Given the description of an element on the screen output the (x, y) to click on. 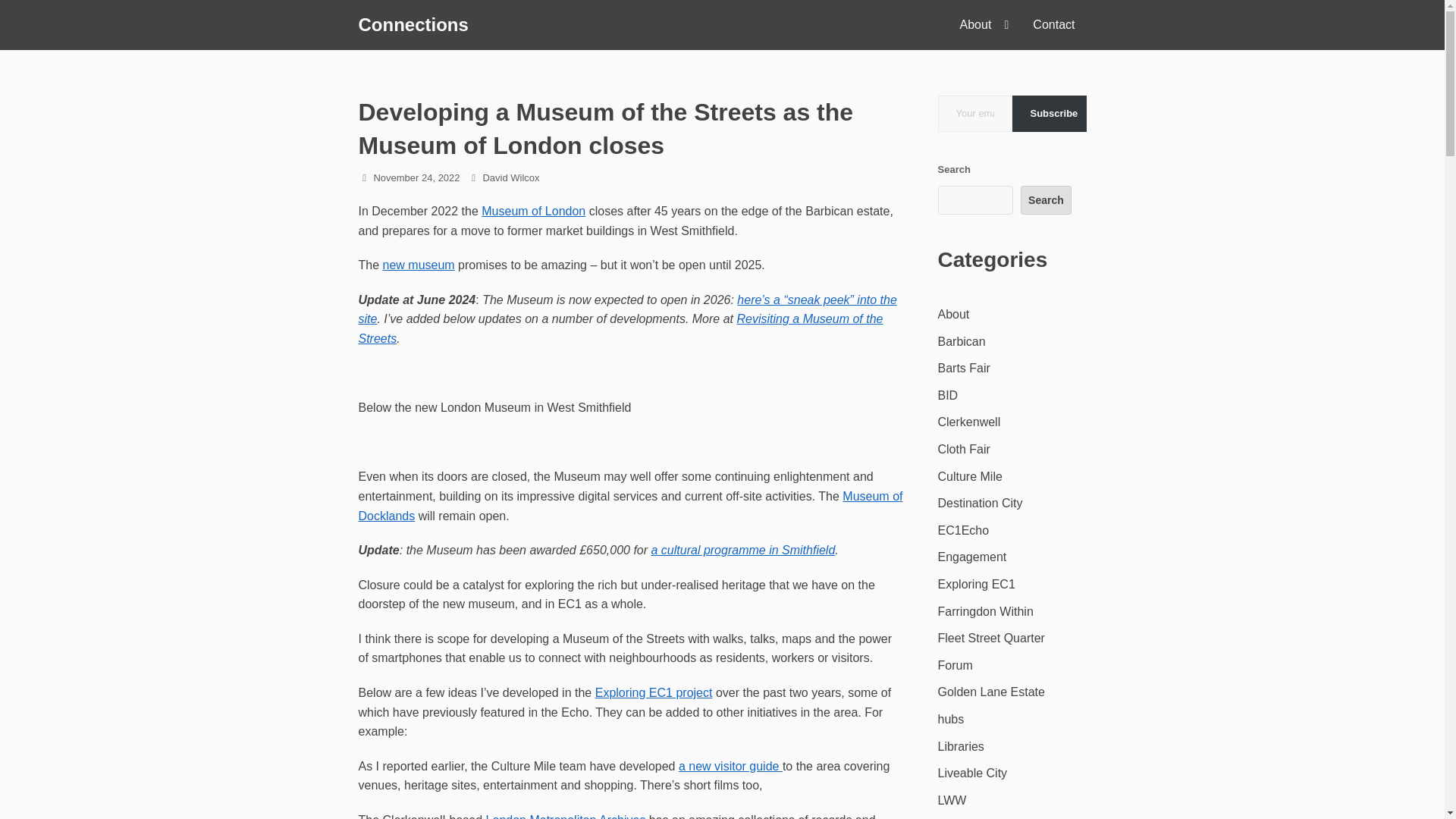
Please fill in this field. (974, 113)
Exploring EC1 project (654, 692)
a cultural programme in Smithfield (742, 549)
London Metropolitan Archives (566, 816)
David Wilcox (509, 177)
Contact (1054, 24)
new museum (418, 264)
a new visitor guide (730, 766)
Museum of Docklands (630, 505)
Museum of London (533, 210)
